Given the description of an element on the screen output the (x, y) to click on. 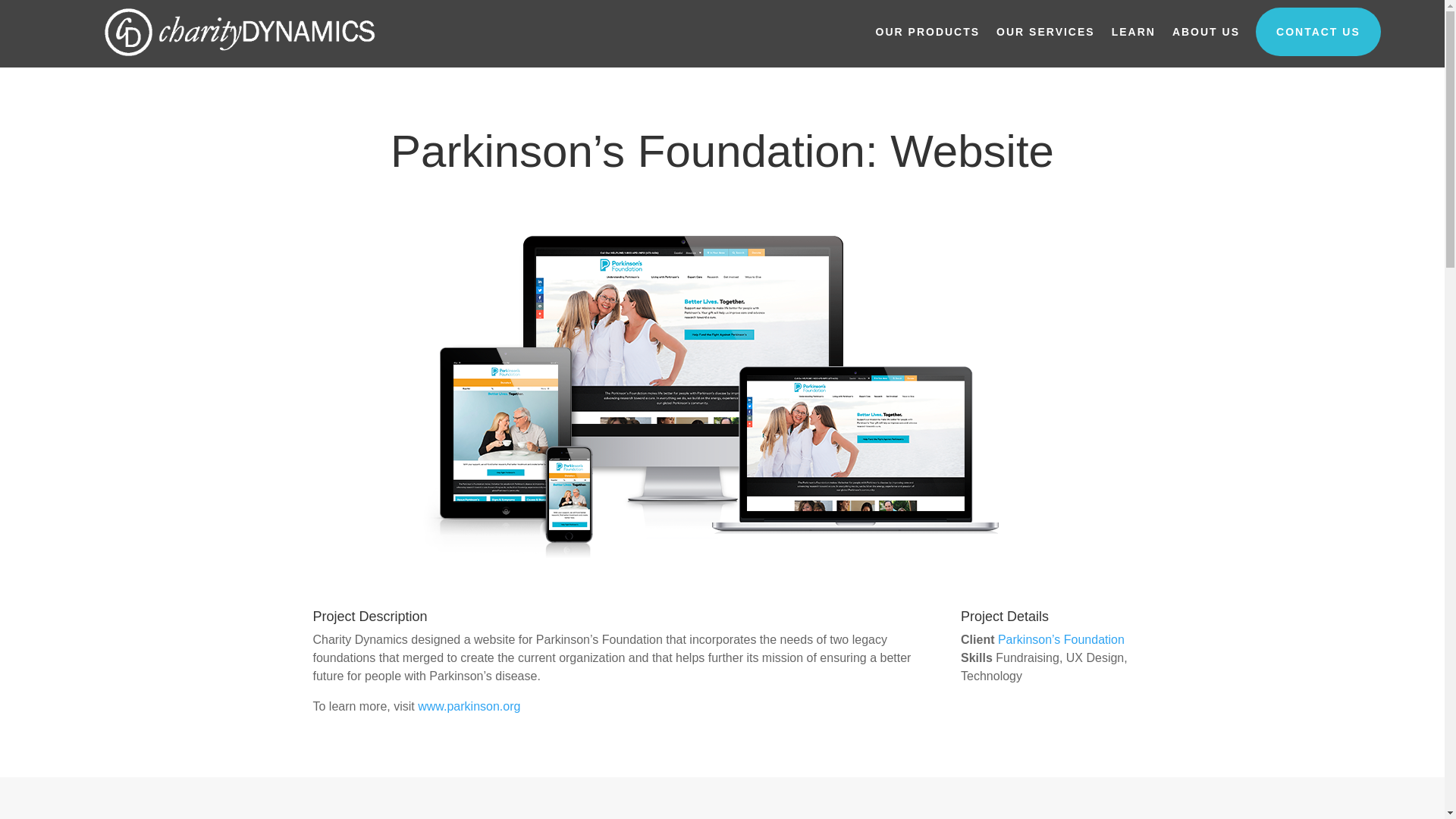
ABOUT US (1206, 31)
LEARN (1134, 31)
CONTACT US (1318, 31)
www.parkinson.org (468, 706)
OUR SERVICES (1044, 31)
OUR PRODUCTS (927, 31)
